Given the description of an element on the screen output the (x, y) to click on. 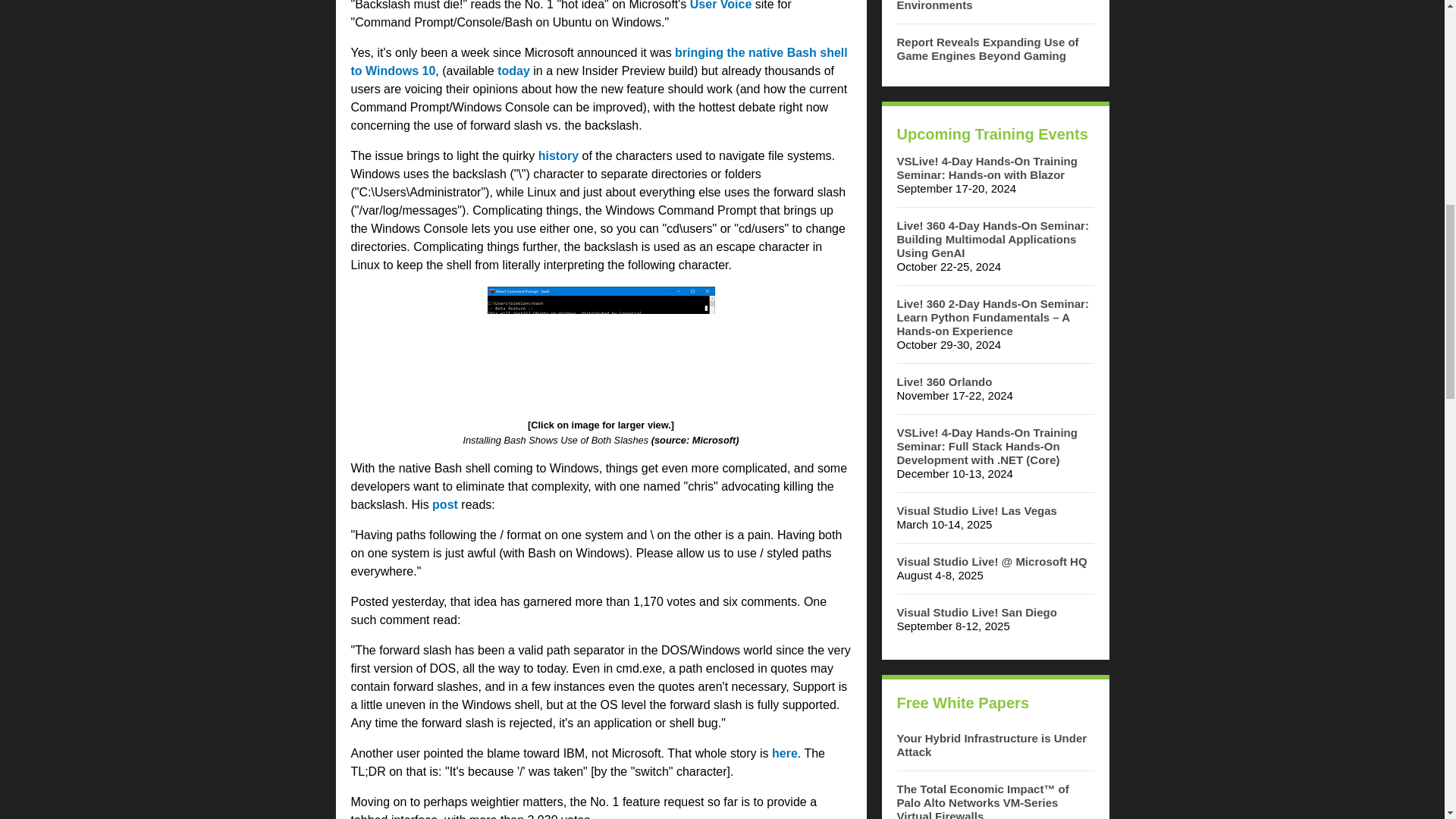
bringing the native Bash shell to Windows 10 (598, 60)
here (784, 753)
history (558, 155)
today (513, 70)
User Voice (721, 5)
post (445, 504)
